Given the description of an element on the screen output the (x, y) to click on. 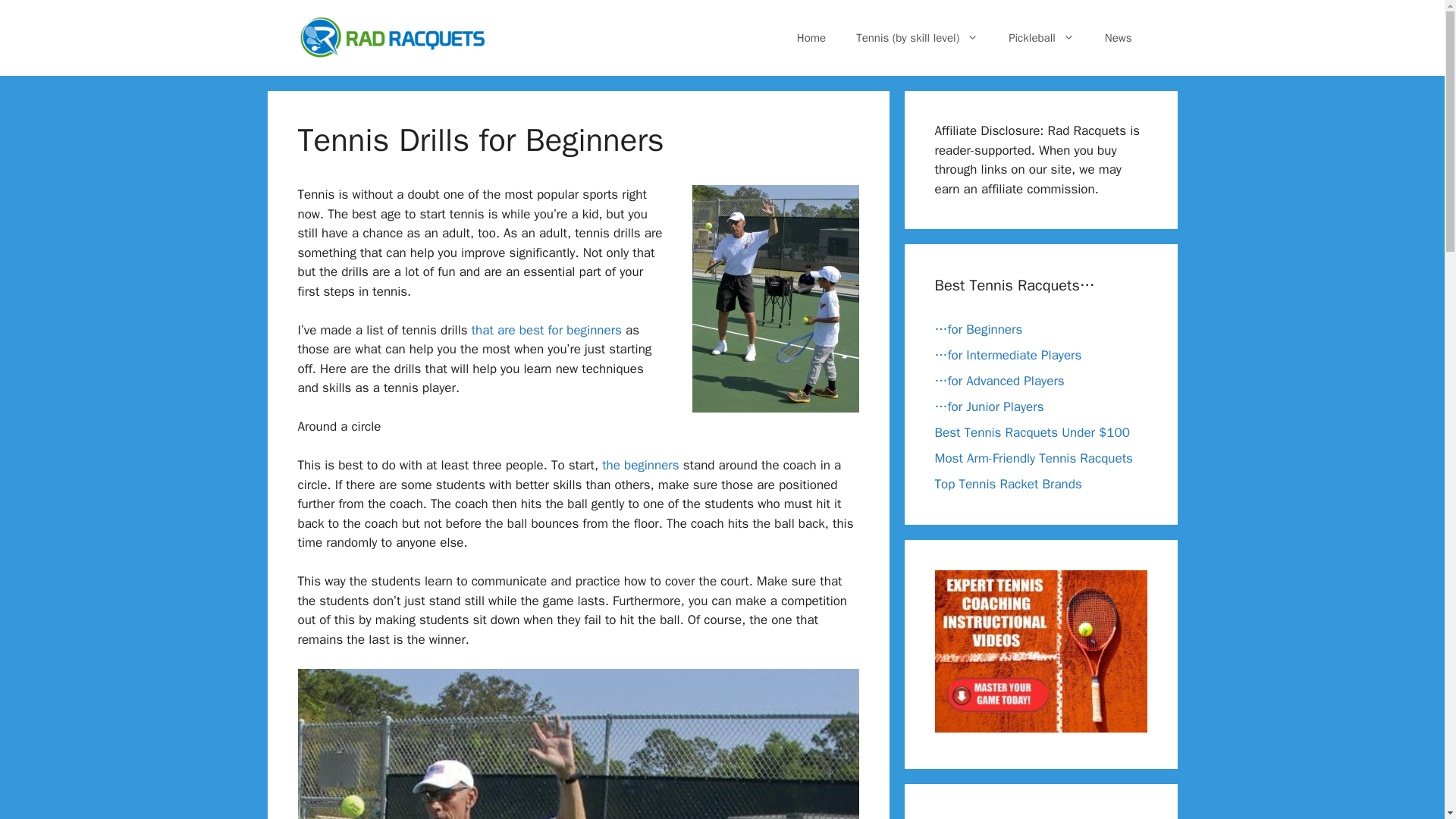
that are best for beginners (546, 330)
the beginners (640, 465)
Top Tennis Racket Brands (1007, 483)
Pickleball (1040, 37)
Tennis Drills (578, 744)
News (1118, 37)
Home (811, 37)
Most Arm-Friendly Tennis Racquets (1033, 458)
